Given the description of an element on the screen output the (x, y) to click on. 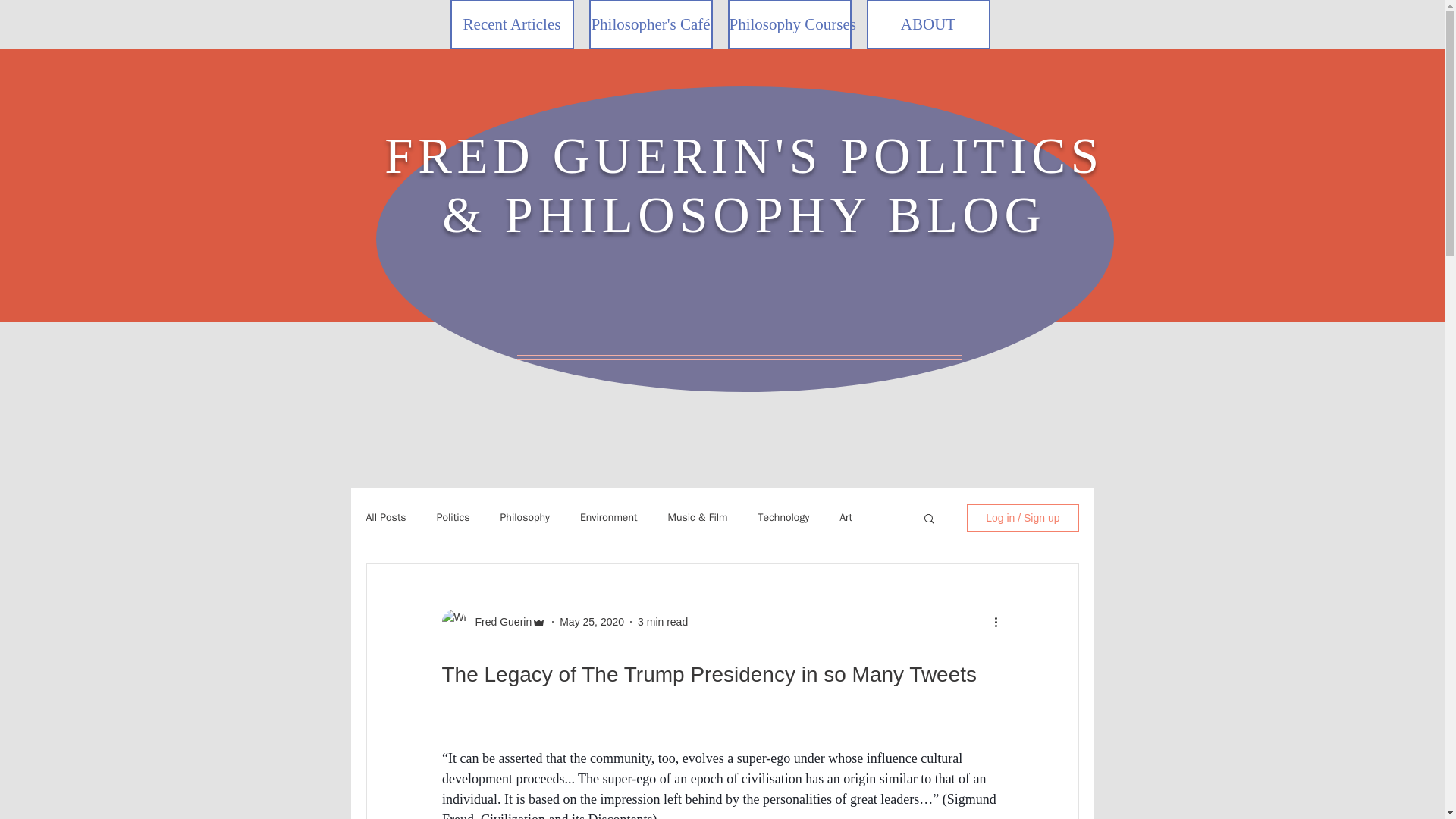
Philosophy (525, 517)
Art (845, 517)
Environment (608, 517)
May 25, 2020 (591, 621)
Politics (453, 517)
Fred Guerin (498, 621)
3 min read (662, 621)
Technology (783, 517)
All Posts (385, 517)
ABOUT (928, 24)
Recent Articles (511, 24)
Philosophy Courses (789, 24)
